Given the description of an element on the screen output the (x, y) to click on. 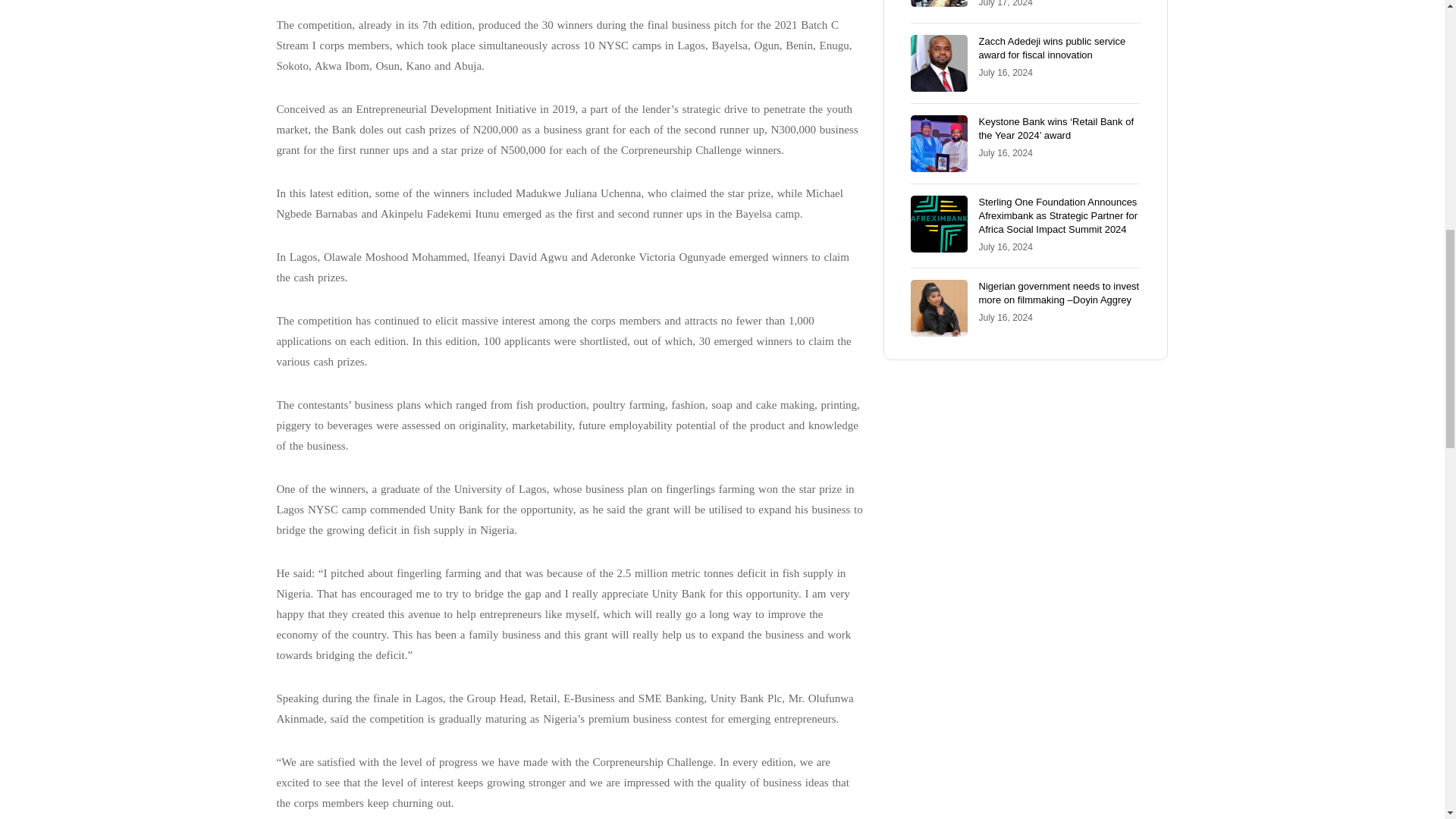
4:42 am (1005, 3)
July 17, 2024 (1005, 3)
